Given the description of an element on the screen output the (x, y) to click on. 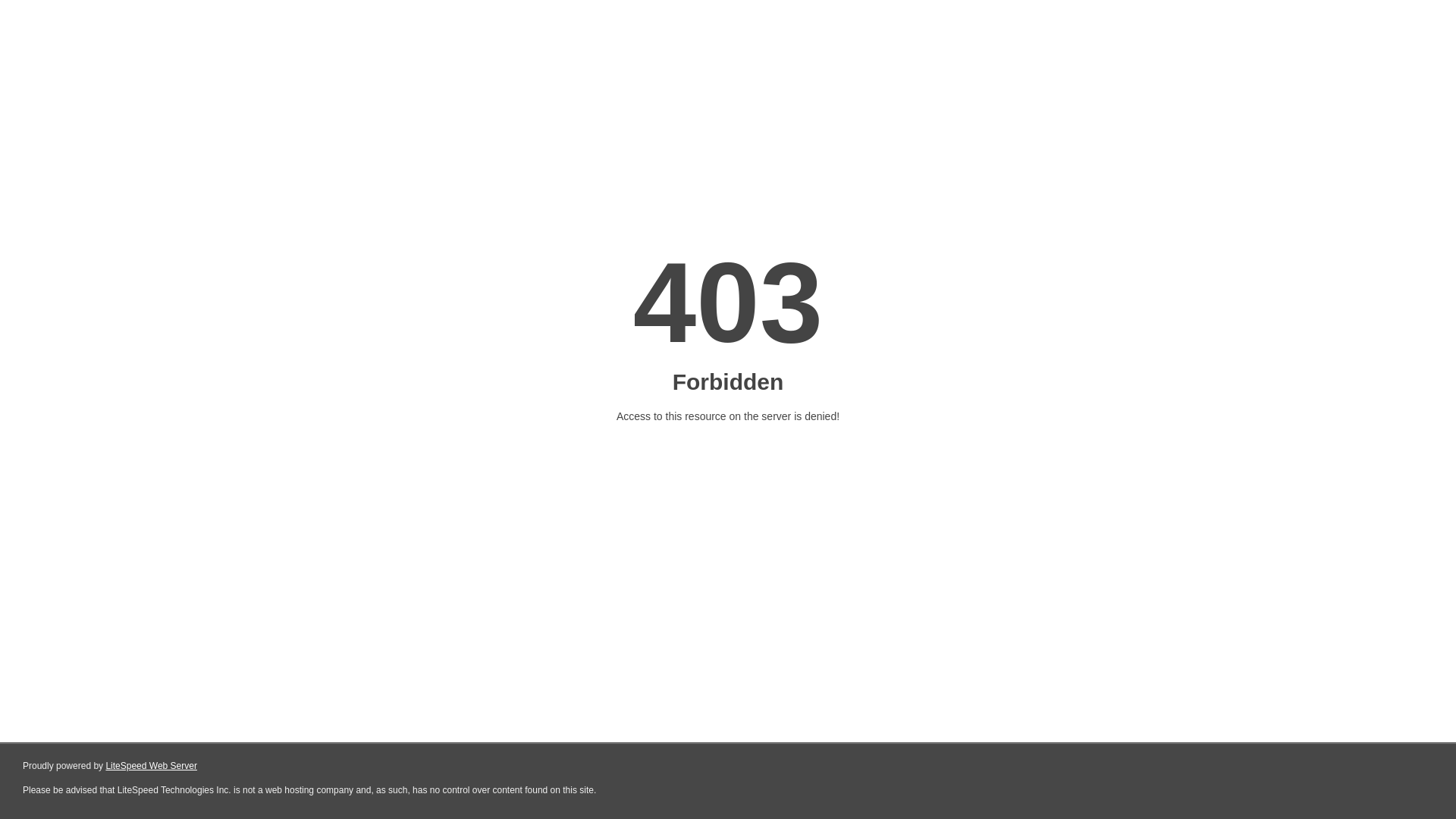
LiteSpeed Web Server Element type: text (151, 765)
